Given the description of an element on the screen output the (x, y) to click on. 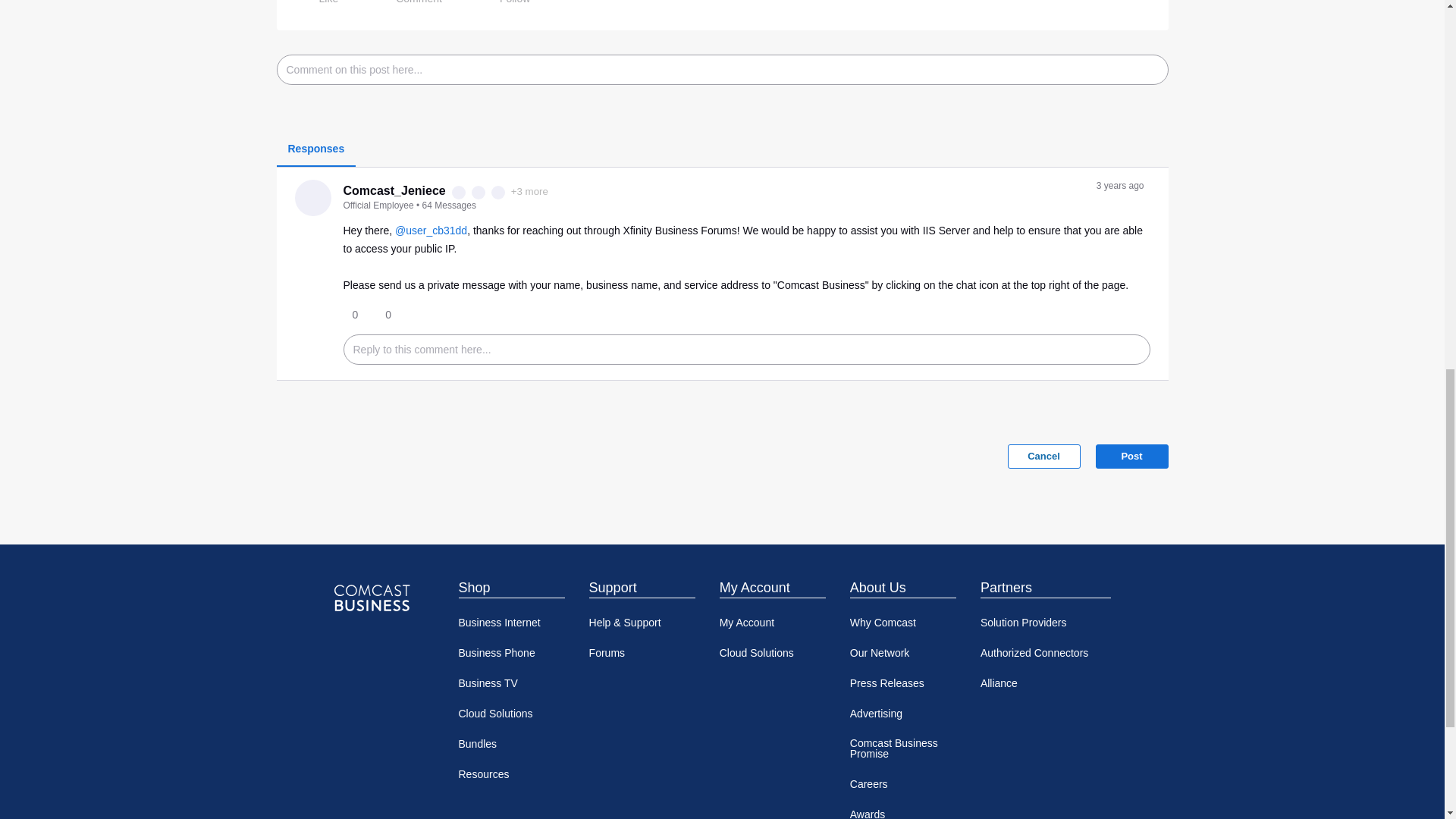
1st Reply (458, 192)
Post (1130, 456)
Expressive Exchange (477, 192)
Business Internet (511, 622)
Cancel (1043, 456)
Follow (503, 6)
1st Follower (498, 192)
Shop (511, 587)
Like (317, 6)
Comcast Business (371, 597)
